Given the description of an element on the screen output the (x, y) to click on. 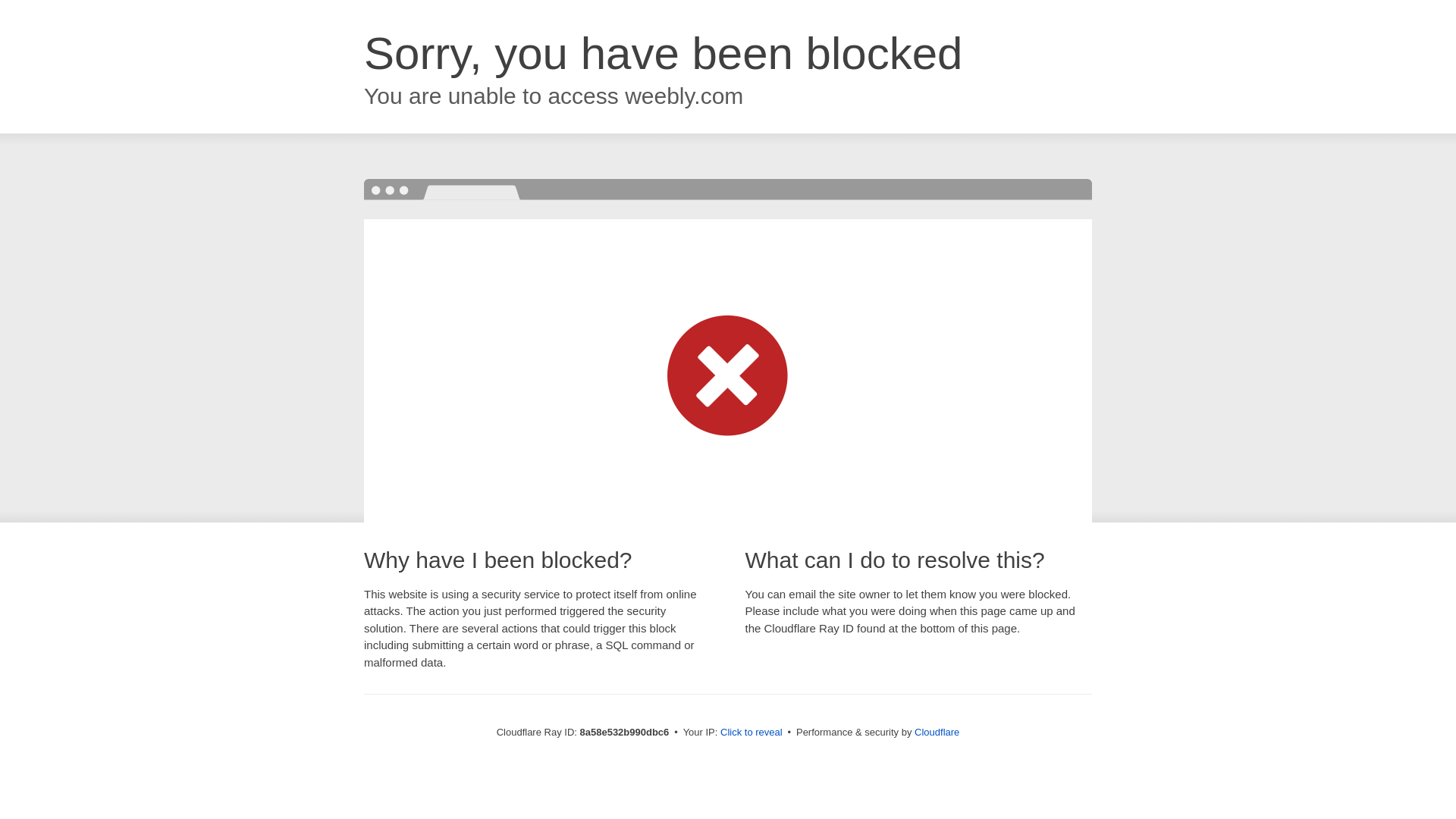
Cloudflare (936, 731)
Click to reveal (751, 732)
